Given the description of an element on the screen output the (x, y) to click on. 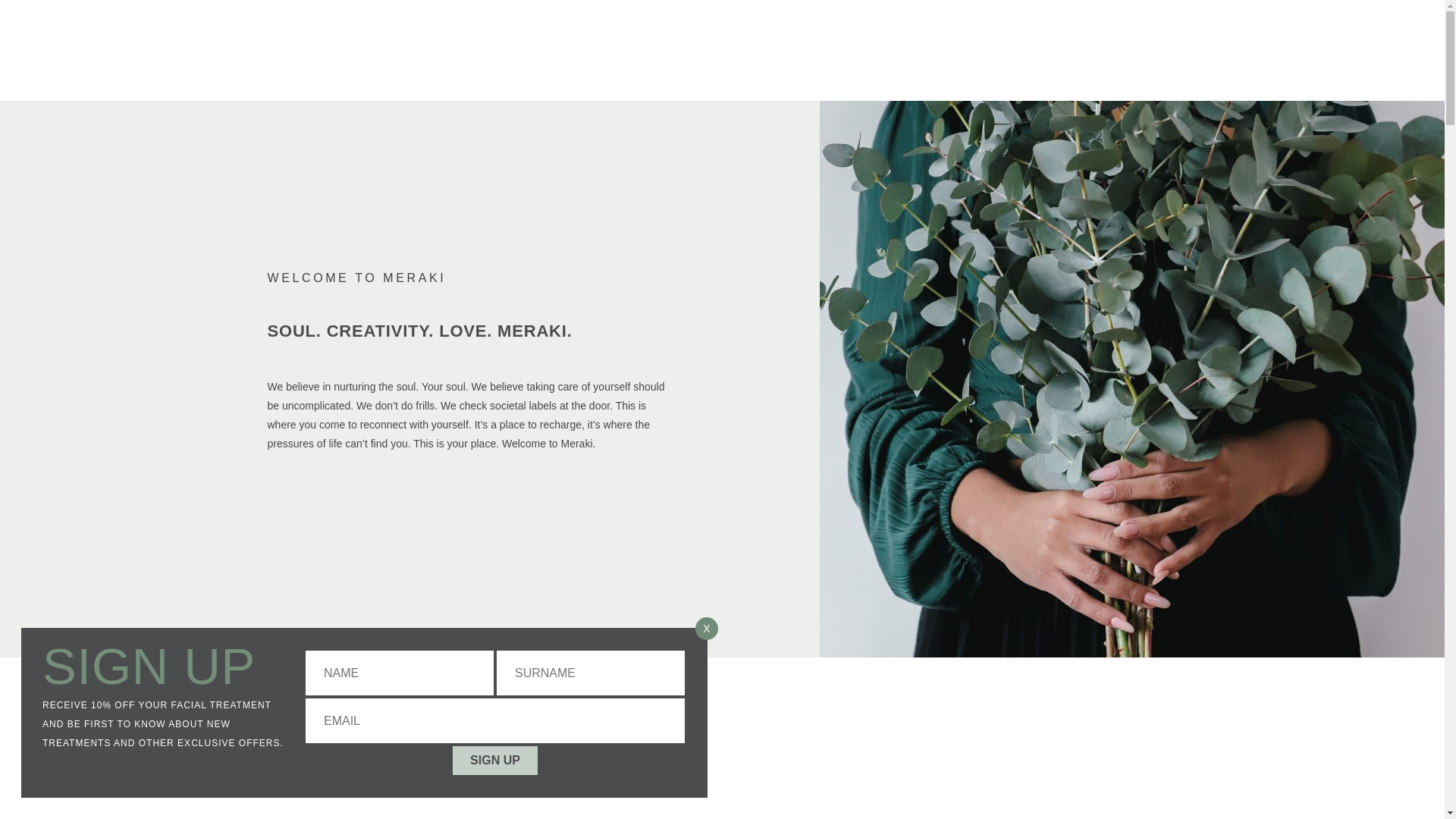
SIGN UP (494, 760)
